Given the description of an element on the screen output the (x, y) to click on. 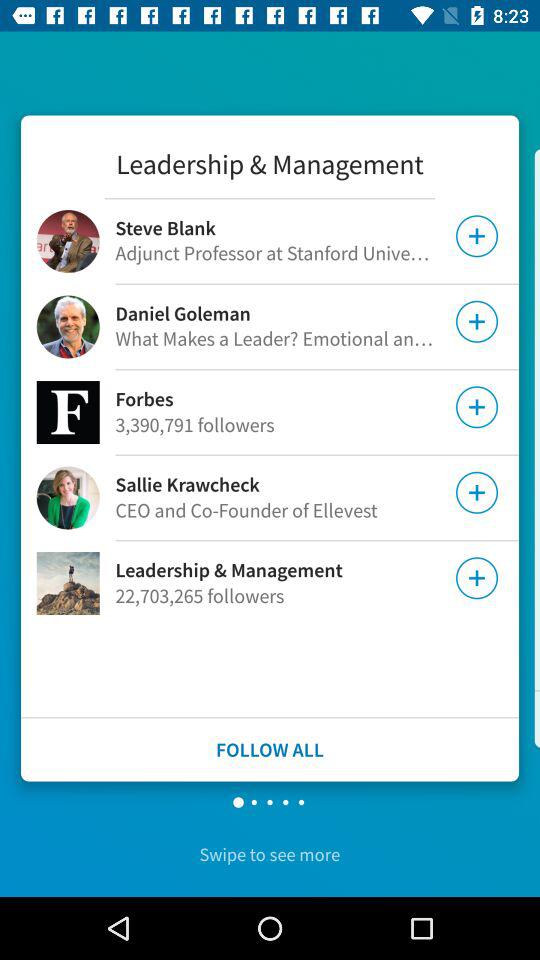
swipe until the follow all item (270, 749)
